Given the description of an element on the screen output the (x, y) to click on. 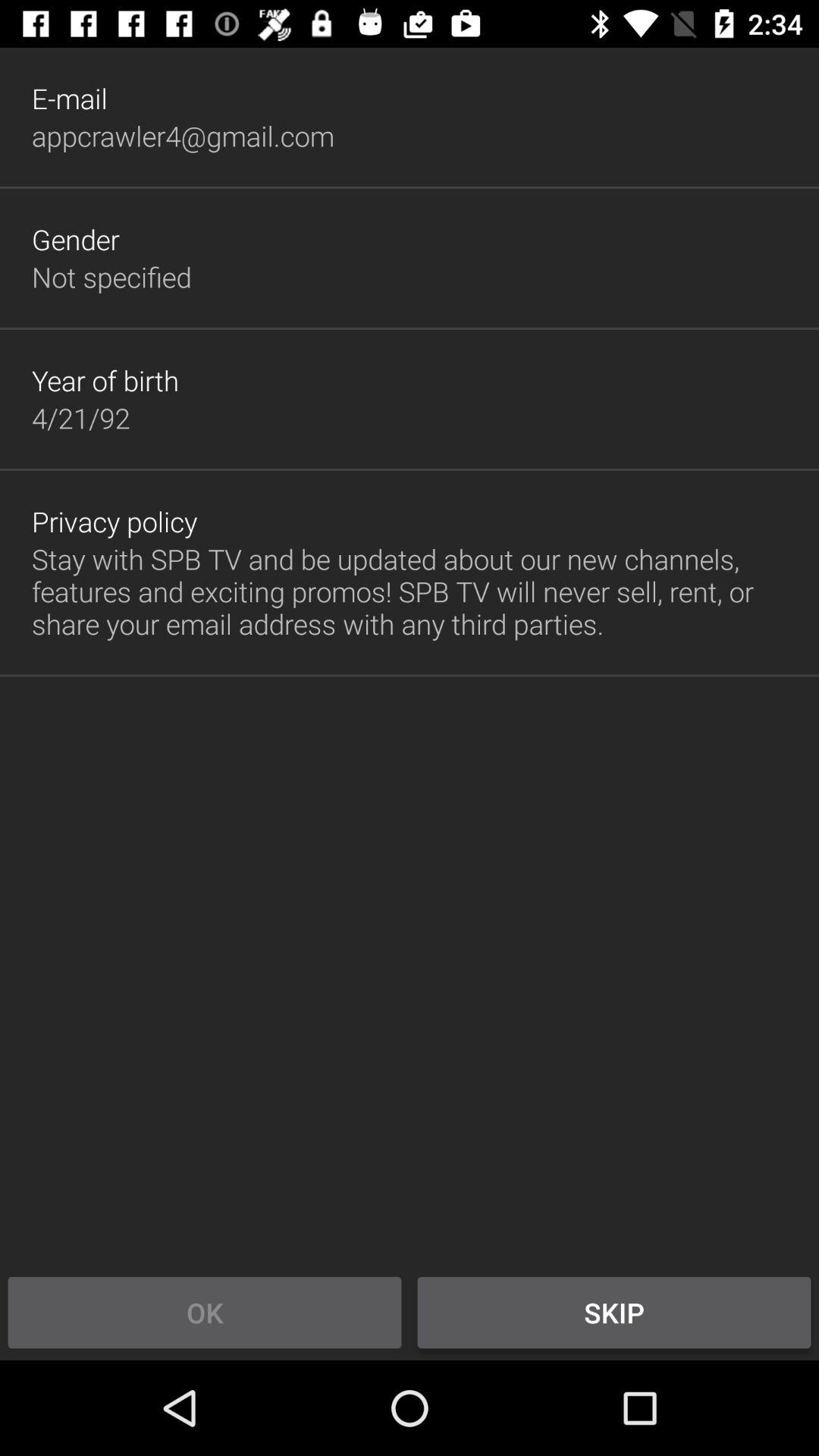
jump until privacy policy (114, 521)
